Given the description of an element on the screen output the (x, y) to click on. 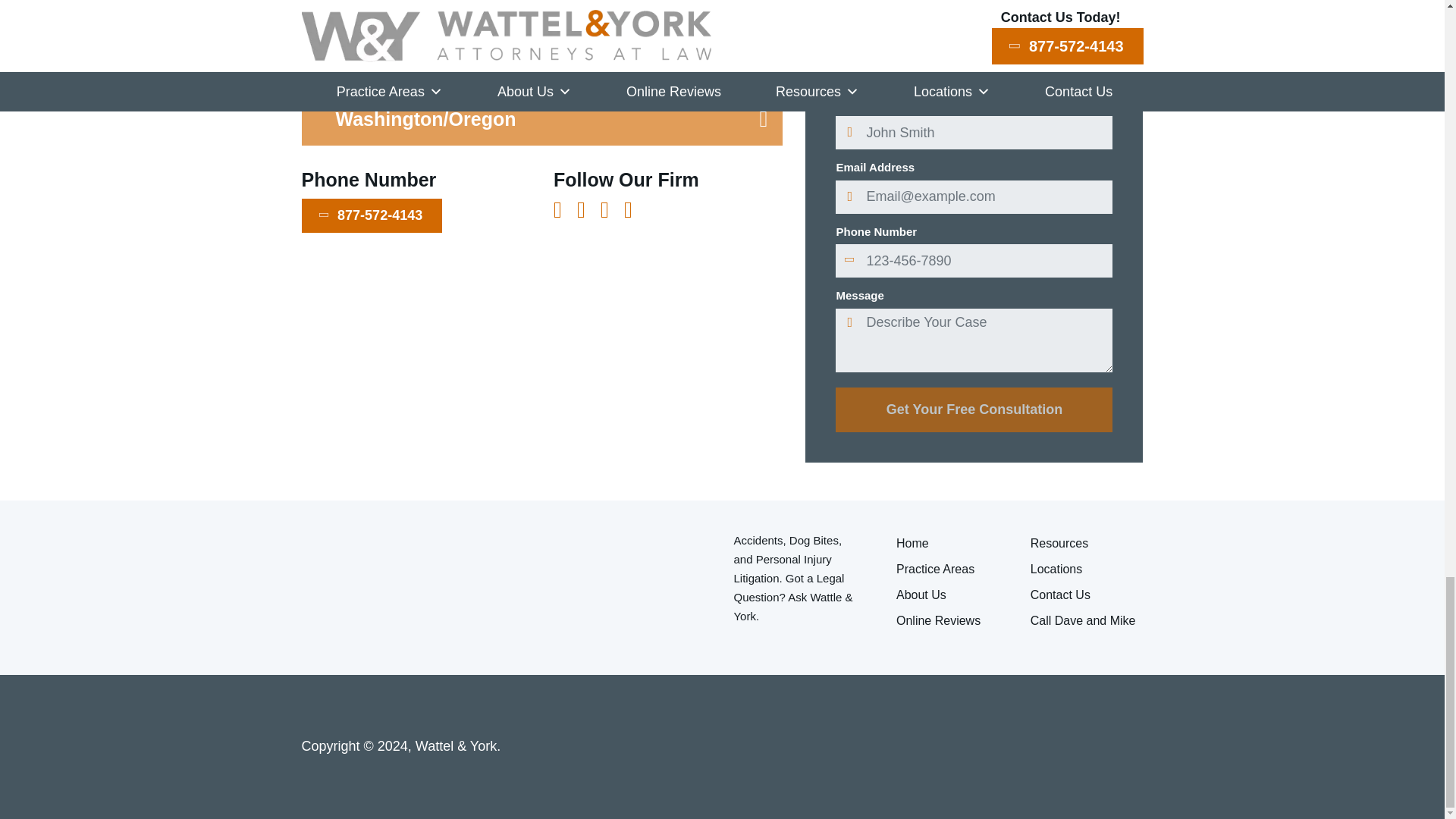
Call us! (371, 215)
